Given the description of an element on the screen output the (x, y) to click on. 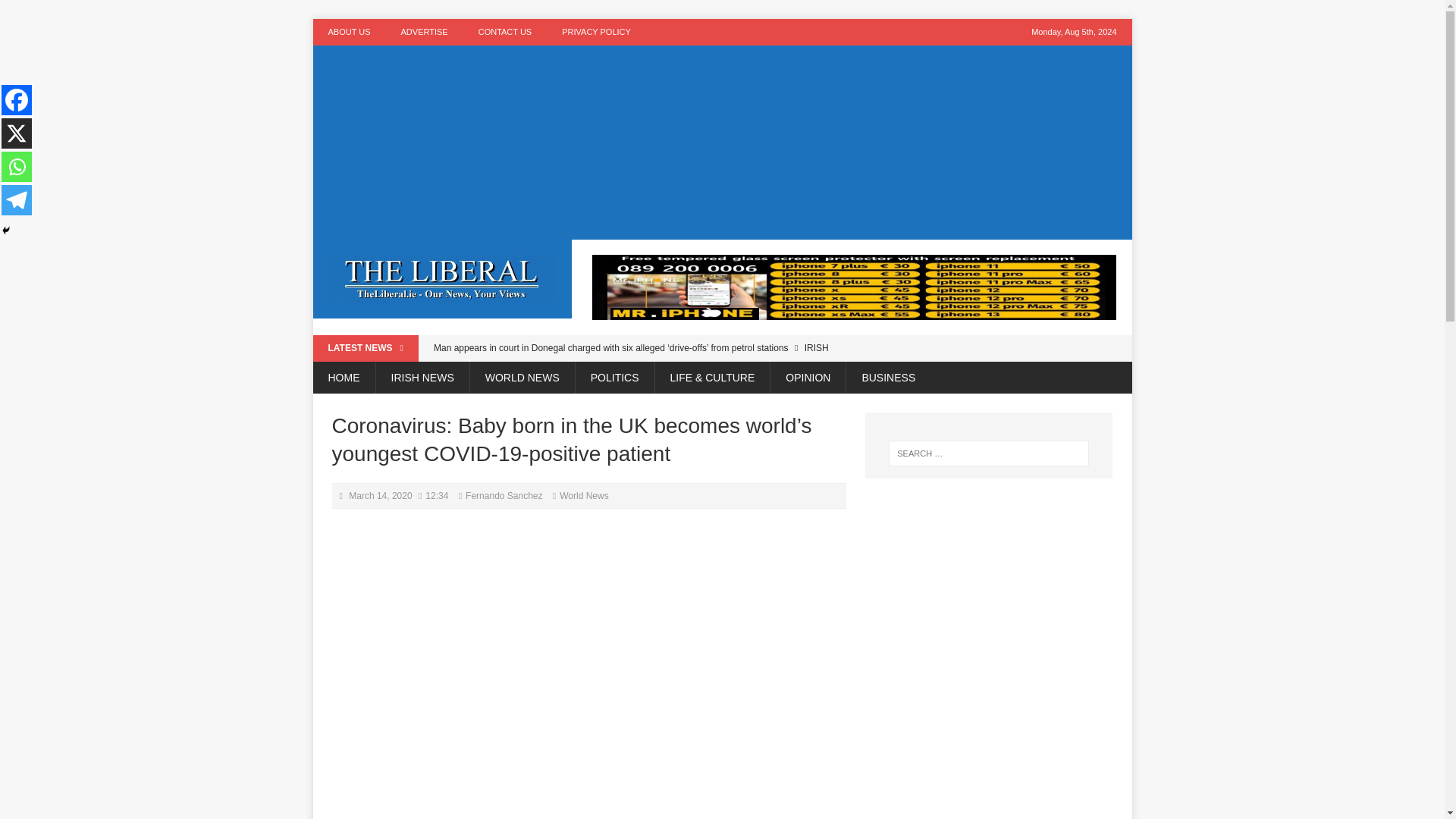
ADVERTISE (424, 31)
CONTACT US (505, 31)
Whatsapp (16, 166)
World News (583, 495)
Fernando Sanchez (503, 495)
IRISH NEWS (421, 377)
March 14, 2020 (380, 495)
BUSINESS (887, 377)
WORLD NEWS (521, 377)
12:34 (436, 495)
PRIVACY POLICY (596, 31)
Facebook (16, 100)
POLITICS (614, 377)
X (16, 132)
